Given the description of an element on the screen output the (x, y) to click on. 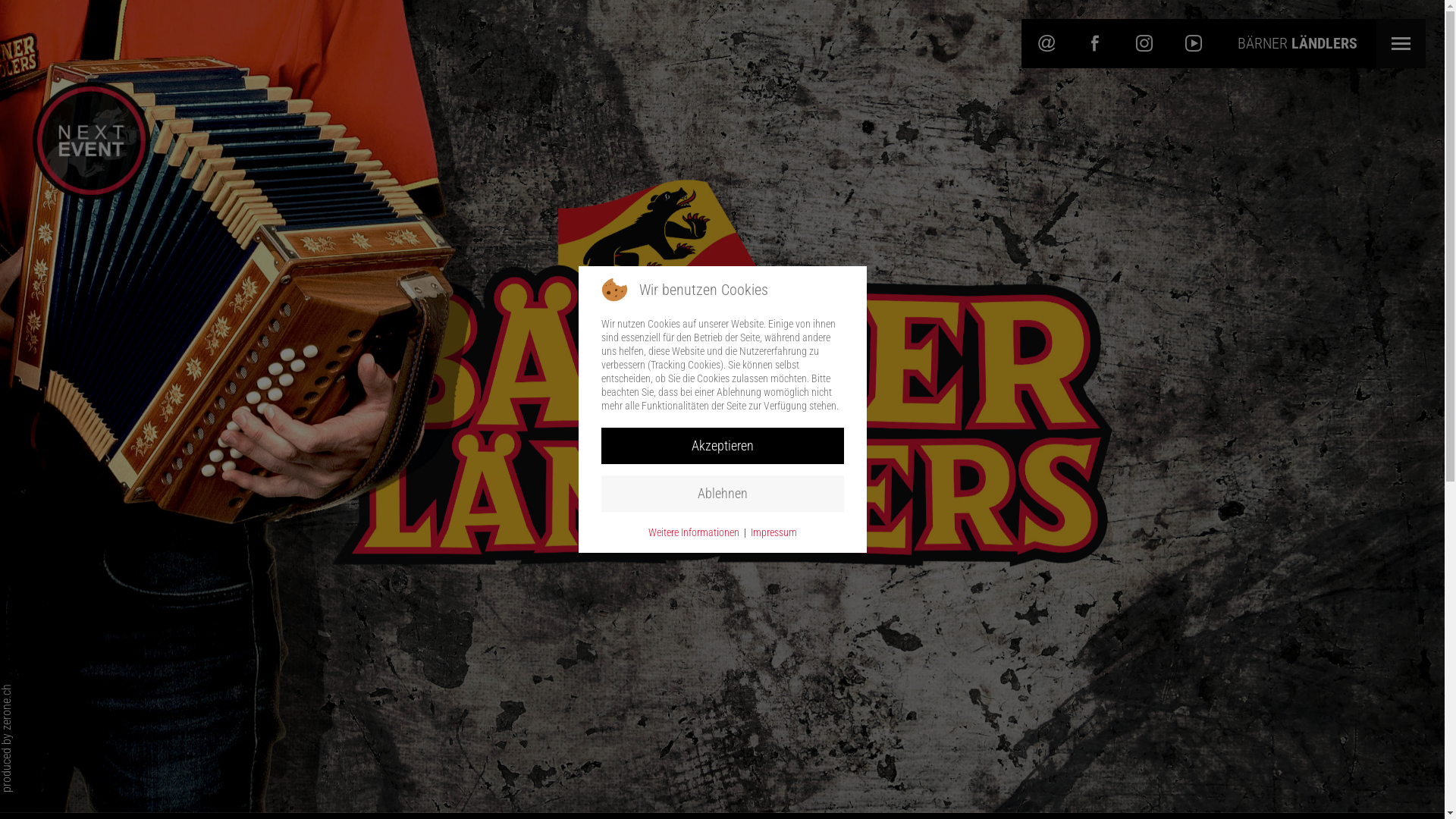
Akzeptieren Element type: text (721, 445)
Impressum Element type: text (773, 531)
Ablehnen Element type: text (721, 493)
Weitere Informationen Element type: text (692, 531)
